Given the description of an element on the screen output the (x, y) to click on. 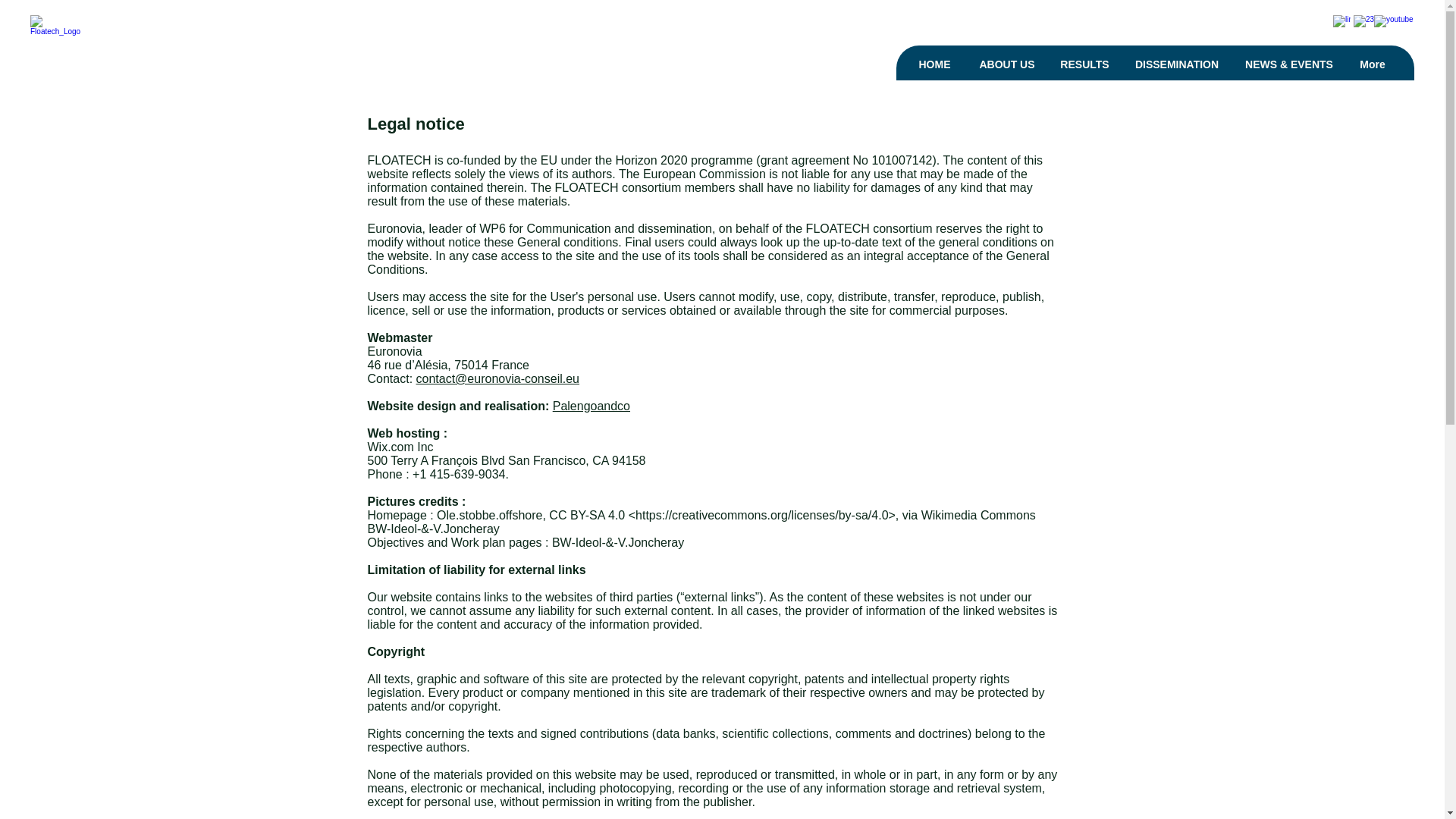
Palengoandco (591, 405)
HOME (934, 64)
